Given the description of an element on the screen output the (x, y) to click on. 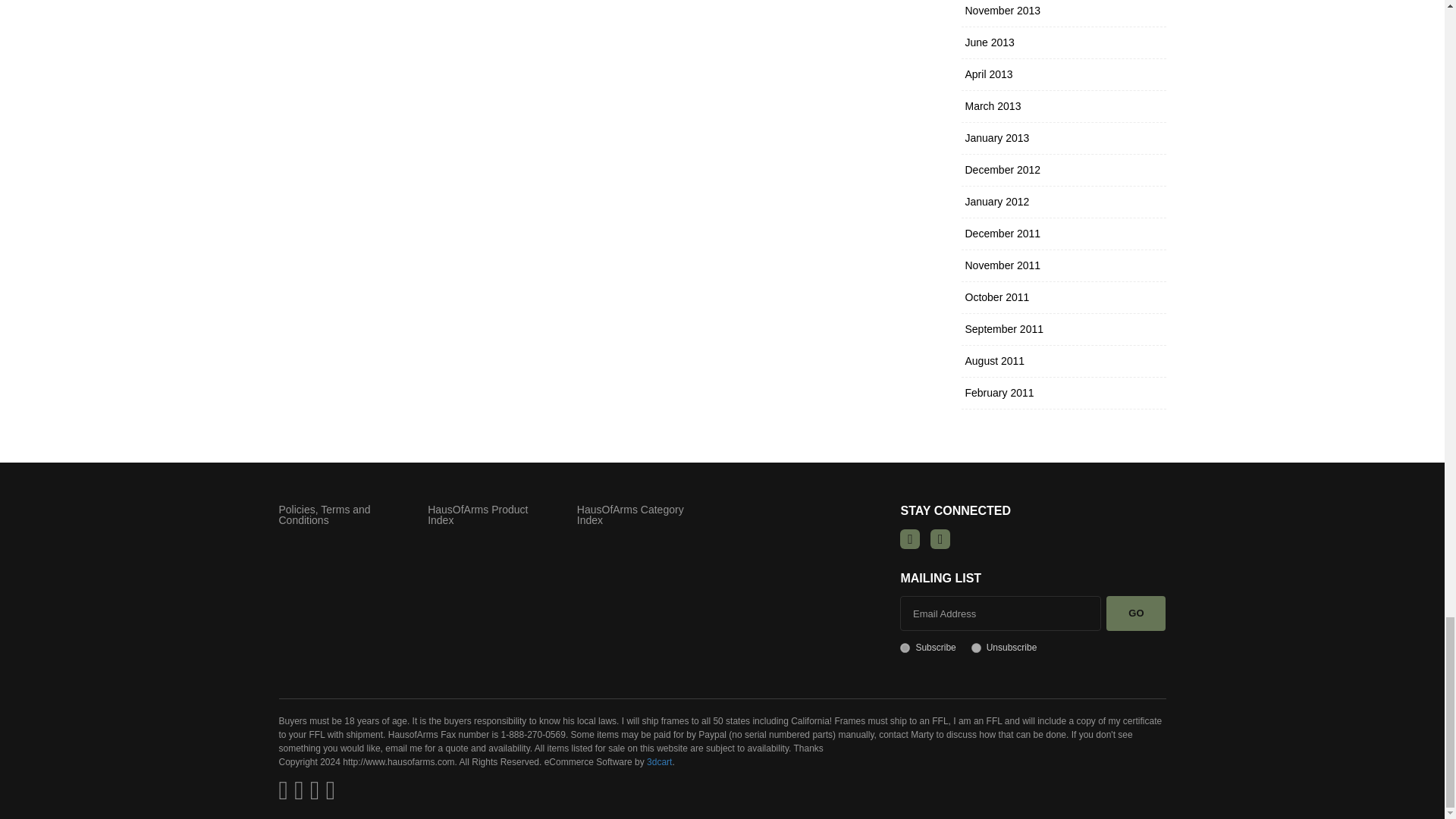
Subscribe to our Channel (940, 538)
Like Us on Facebook (909, 538)
1 (904, 647)
0 (976, 647)
